Given the description of an element on the screen output the (x, y) to click on. 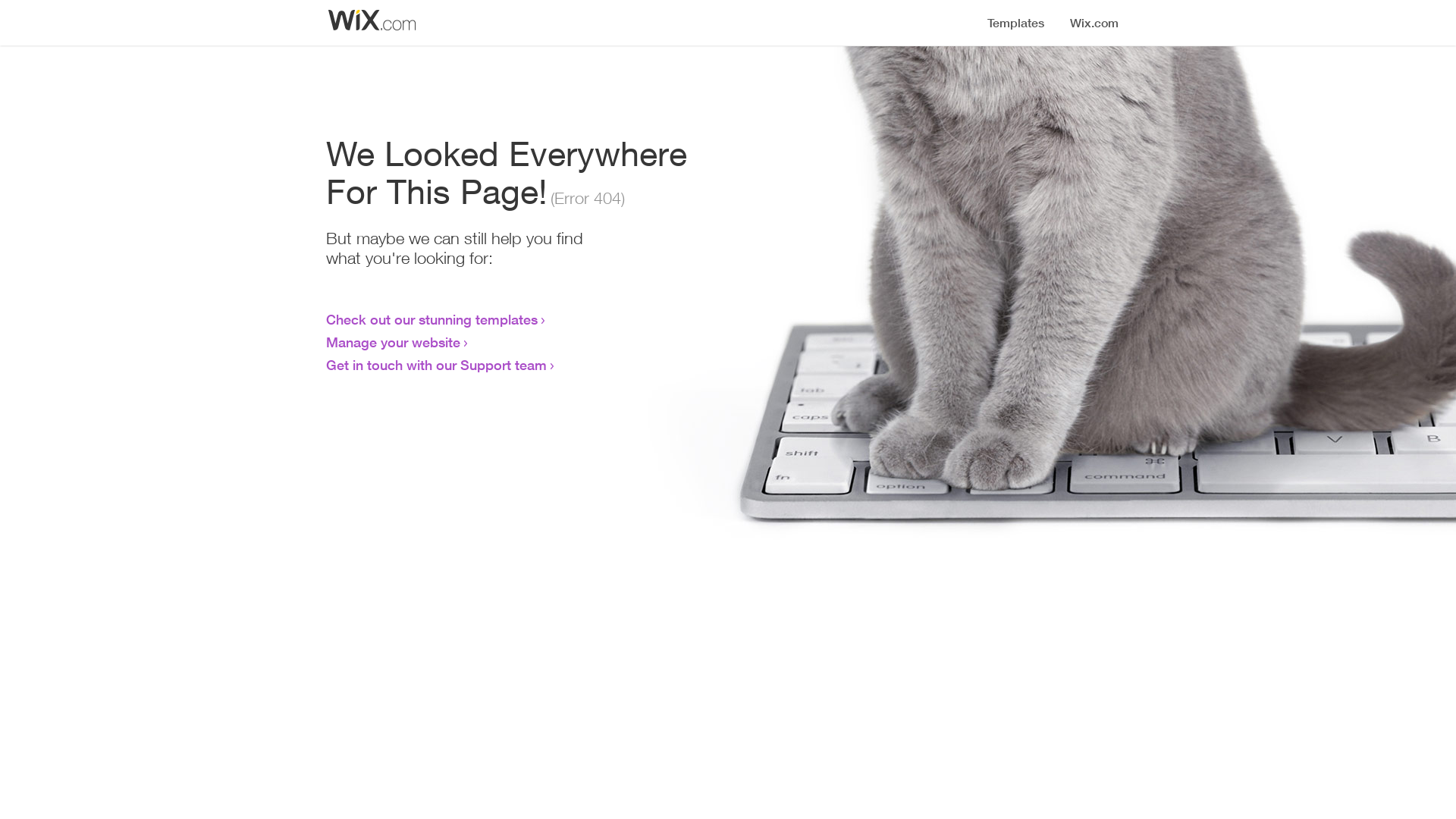
Check out our stunning templates Element type: text (431, 318)
Manage your website Element type: text (393, 341)
Get in touch with our Support team Element type: text (436, 364)
